Given the description of an element on the screen output the (x, y) to click on. 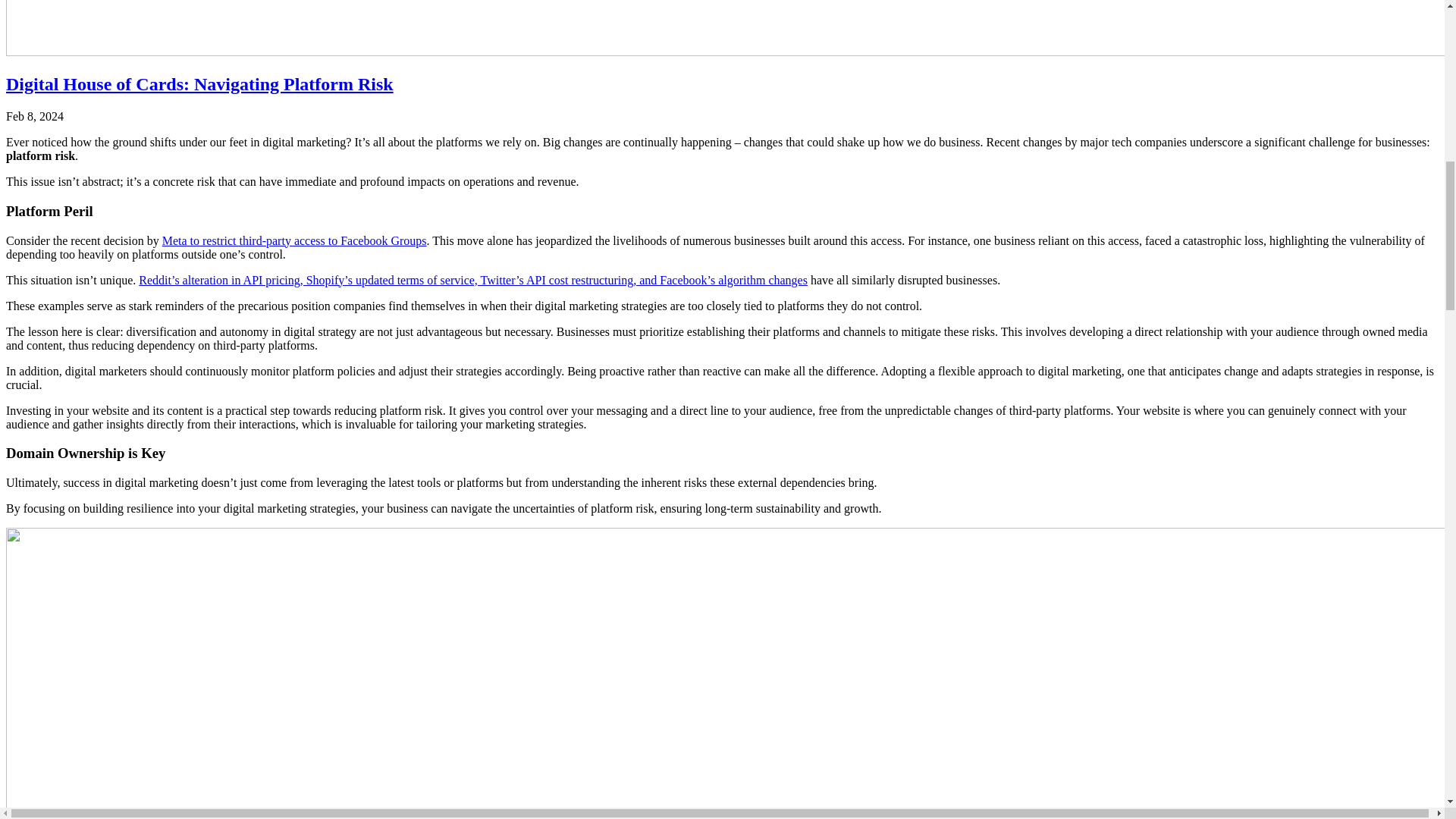
Digital House of Cards: Navigating Platform Risk (721, 84)
Meta to restrict third-party access to Facebook Groups (293, 240)
